Given the description of an element on the screen output the (x, y) to click on. 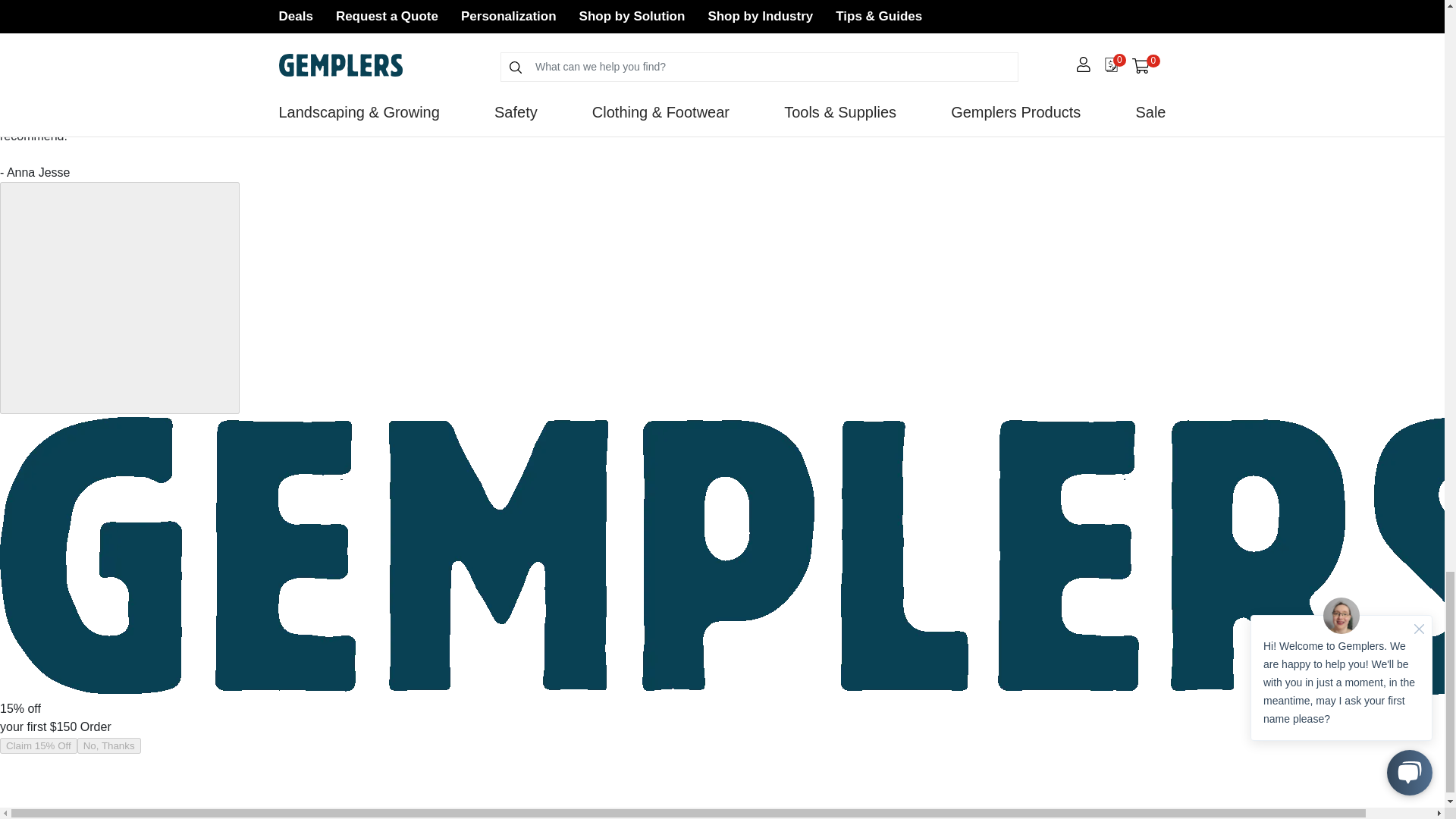
Instagram (358, 39)
Youtube (419, 39)
Facebook (298, 39)
